Given the description of an element on the screen output the (x, y) to click on. 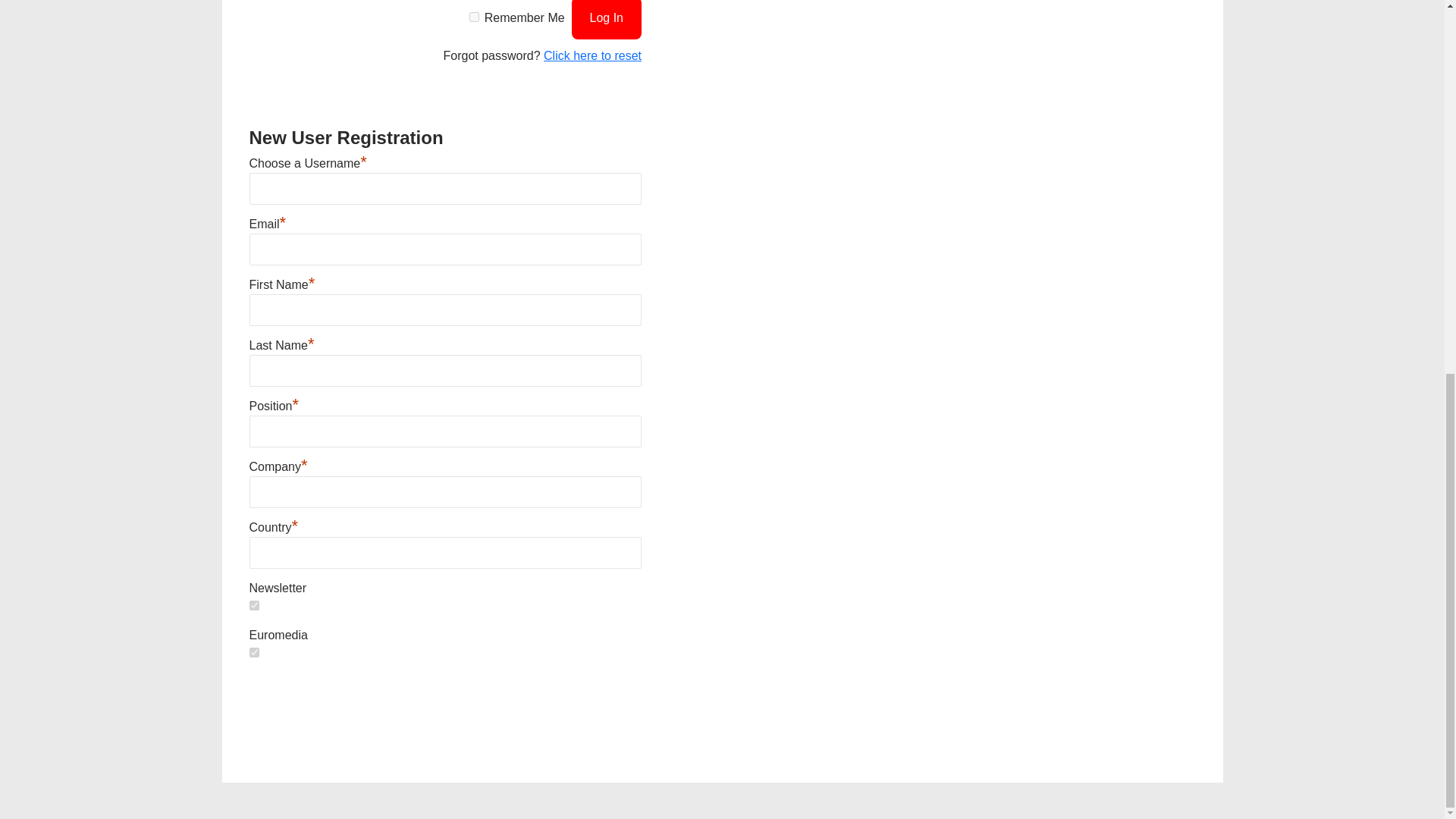
forever (473, 17)
Log In (607, 19)
Log In (607, 19)
Click here to reset (592, 55)
